Given the description of an element on the screen output the (x, y) to click on. 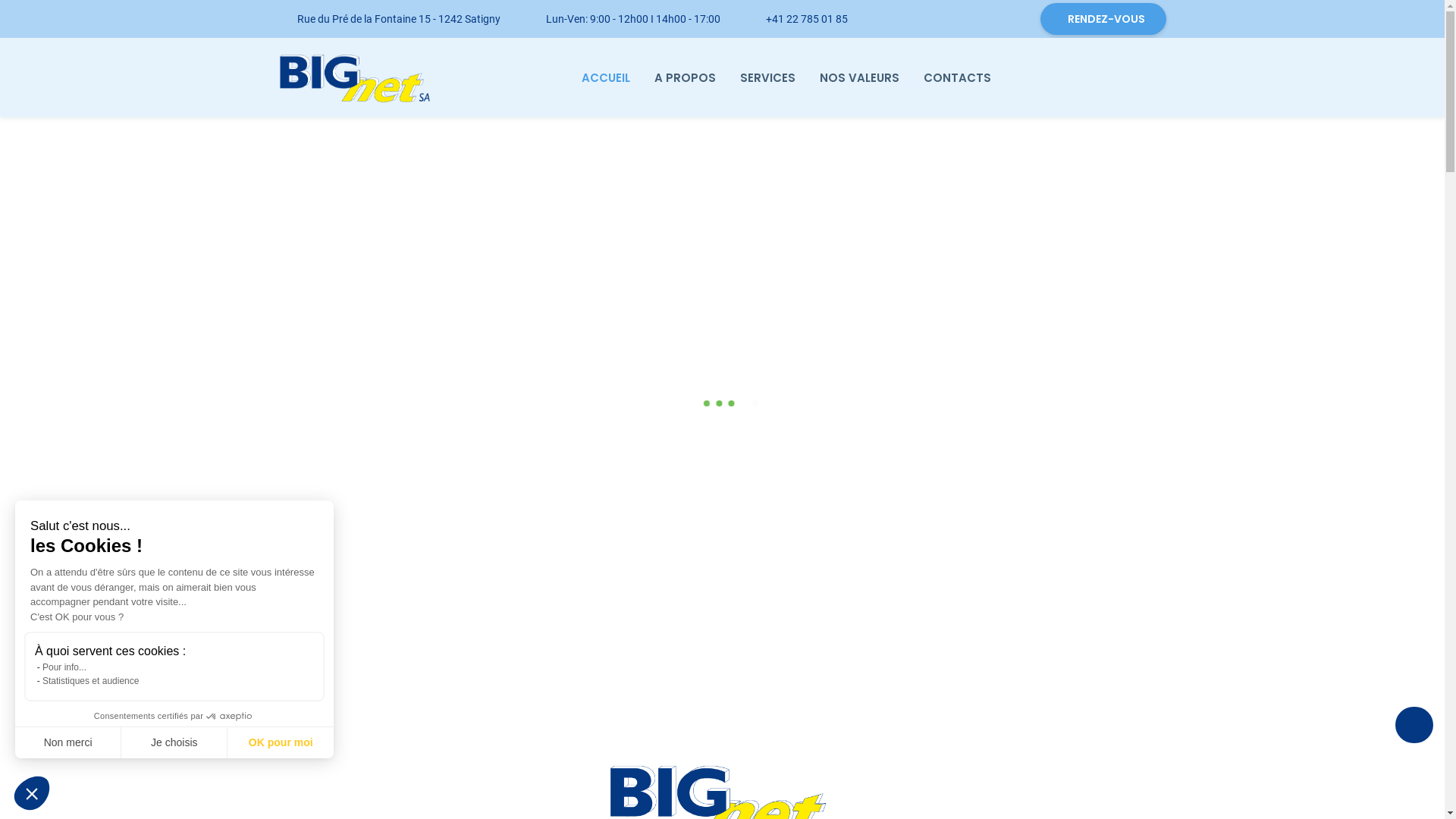
SERVICES Element type: text (767, 78)
A PROPOS Element type: text (685, 78)
RENDEZ-VOUS Element type: text (1103, 18)
CONTACTS Element type: text (957, 78)
NOS VALEURS Element type: text (859, 78)
ACCUEIL Element type: text (605, 78)
